Given the description of an element on the screen output the (x, y) to click on. 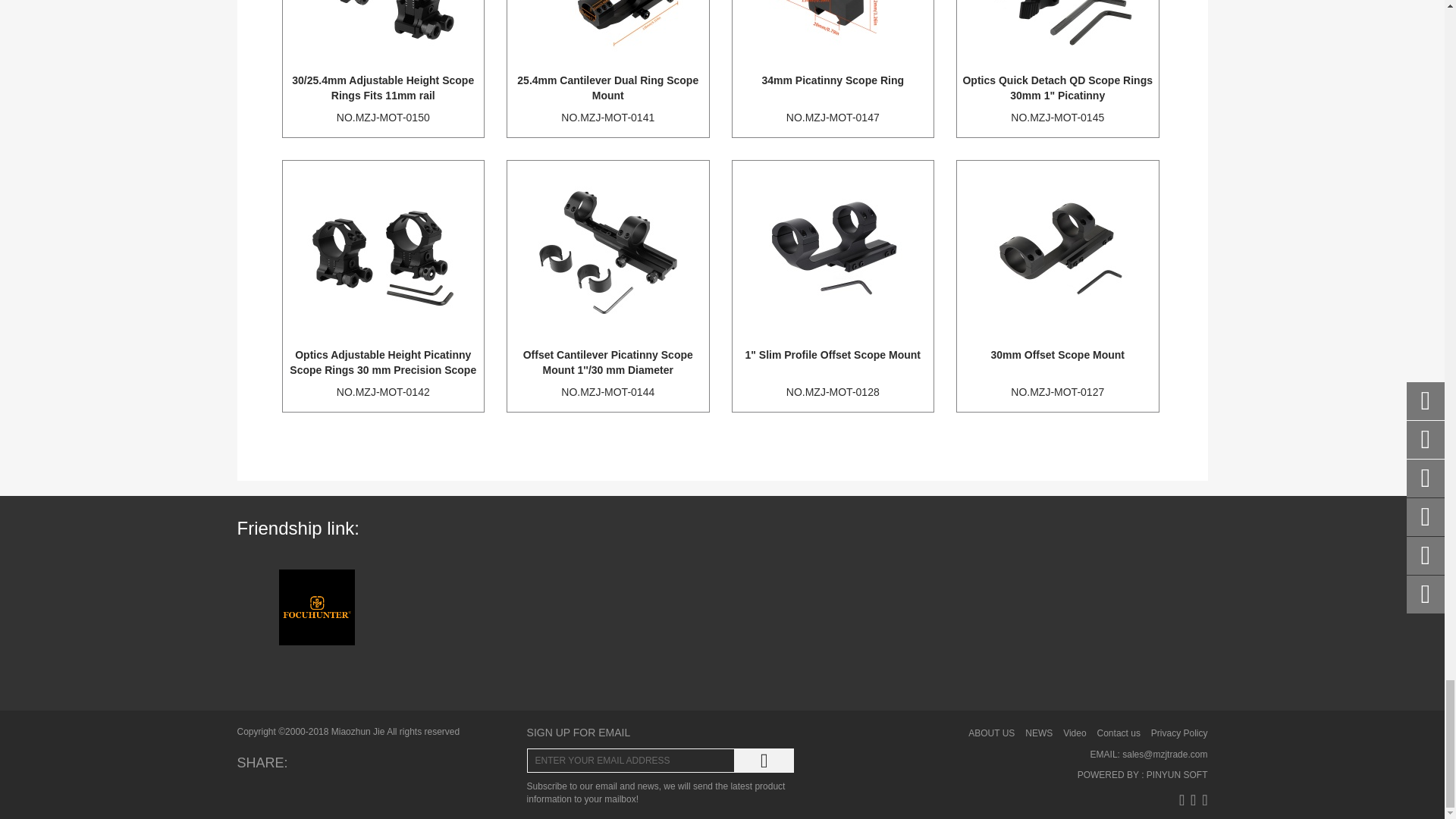
ENTER YOUR EMAIL ADDRESS (631, 760)
